Given the description of an element on the screen output the (x, y) to click on. 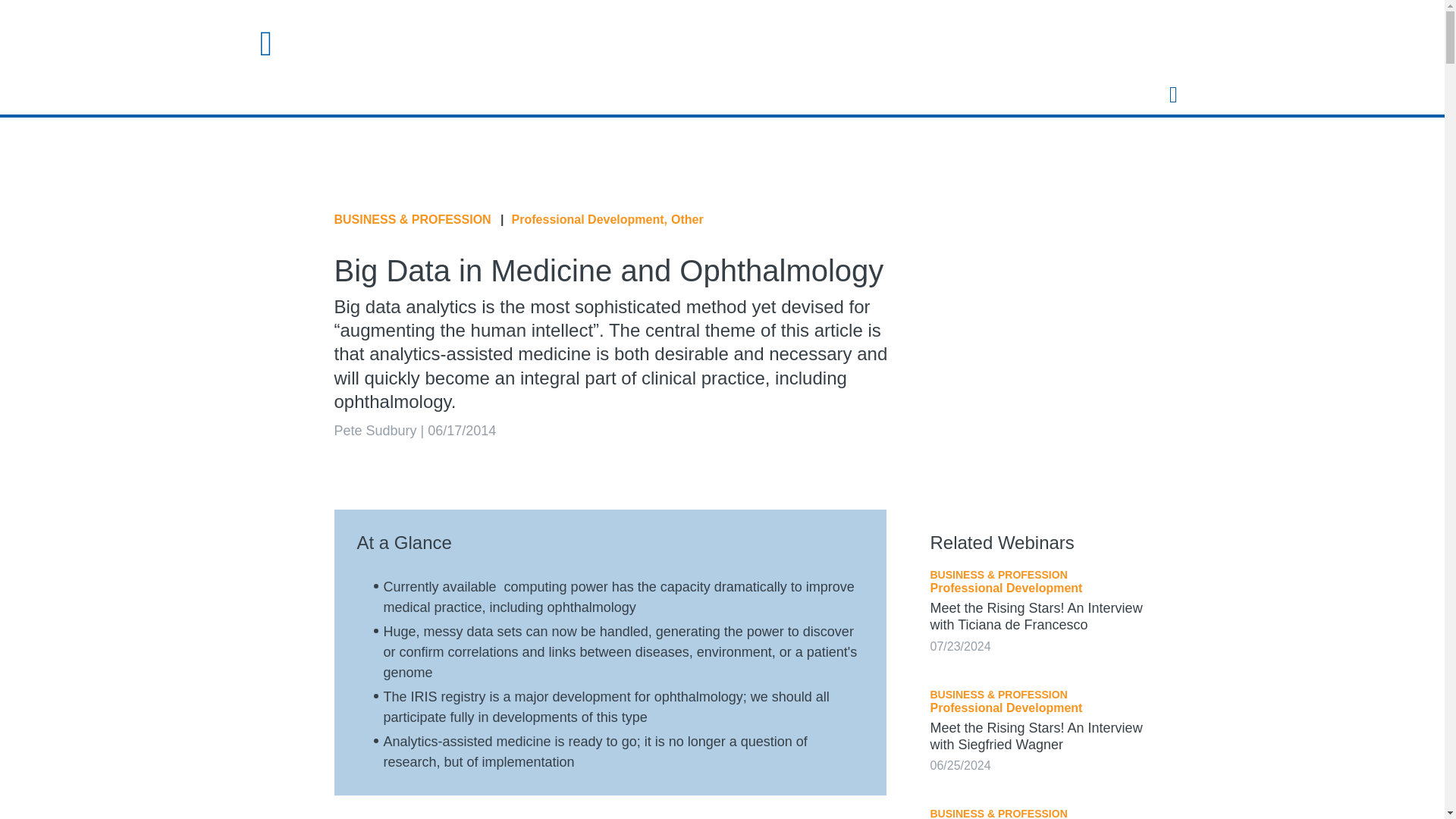
Professional Development (1005, 588)
Meet the Rising Stars! An Interview with Siegfried Wagner (1035, 736)
Professional Development (1005, 707)
Other (687, 219)
Pete Sudbury (374, 430)
Professional Development, (589, 219)
